Given the description of an element on the screen output the (x, y) to click on. 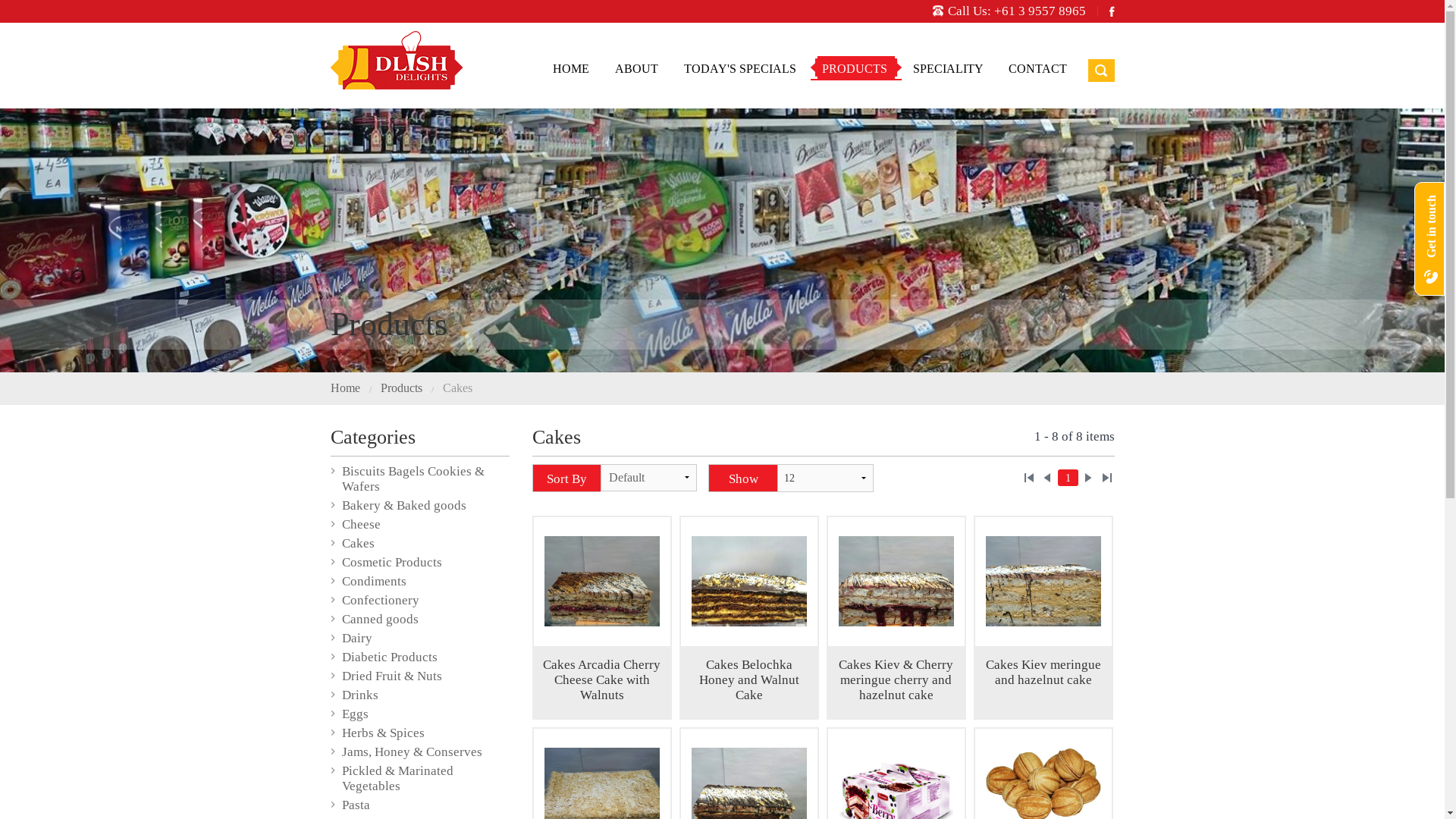
Products Element type: text (401, 387)
Pickled & Marinated Vegetables Element type: text (396, 778)
Cheese Element type: text (360, 524)
Dried Fruit & Nuts Element type: text (391, 675)
Drinks Element type: text (359, 694)
ABOUT Element type: text (635, 68)
Biscuits Bagels Cookies & Wafers Element type: text (412, 478)
https://www.facebook.com/FineGourmetDeli/ Element type: hover (1110, 11)
+61 3 9557 8965 Element type: text (1039, 10)
Home Element type: text (345, 387)
Cosmetic Products Element type: text (391, 562)
Cakes Element type: text (357, 543)
CONTACT Element type: text (1037, 68)
Eggs Element type: text (354, 713)
Bakery & Baked goods Element type: text (403, 505)
Canned goods Element type: text (379, 618)
Jams, Honey & Conserves Element type: text (411, 751)
Pasta Element type: text (355, 804)
PRODUCTS Element type: text (854, 68)
TODAY'S SPECIALS Element type: text (740, 68)
HOME Element type: text (570, 68)
Condiments Element type: text (373, 581)
Cakes Element type: text (457, 387)
Herbs & Spices Element type: text (382, 732)
1 Element type: text (1067, 477)
Diabetic Products Element type: text (388, 656)
Dairy Element type: text (356, 637)
SPECIALITY Element type: text (947, 68)
Confectionery Element type: text (379, 600)
